Given the description of an element on the screen output the (x, y) to click on. 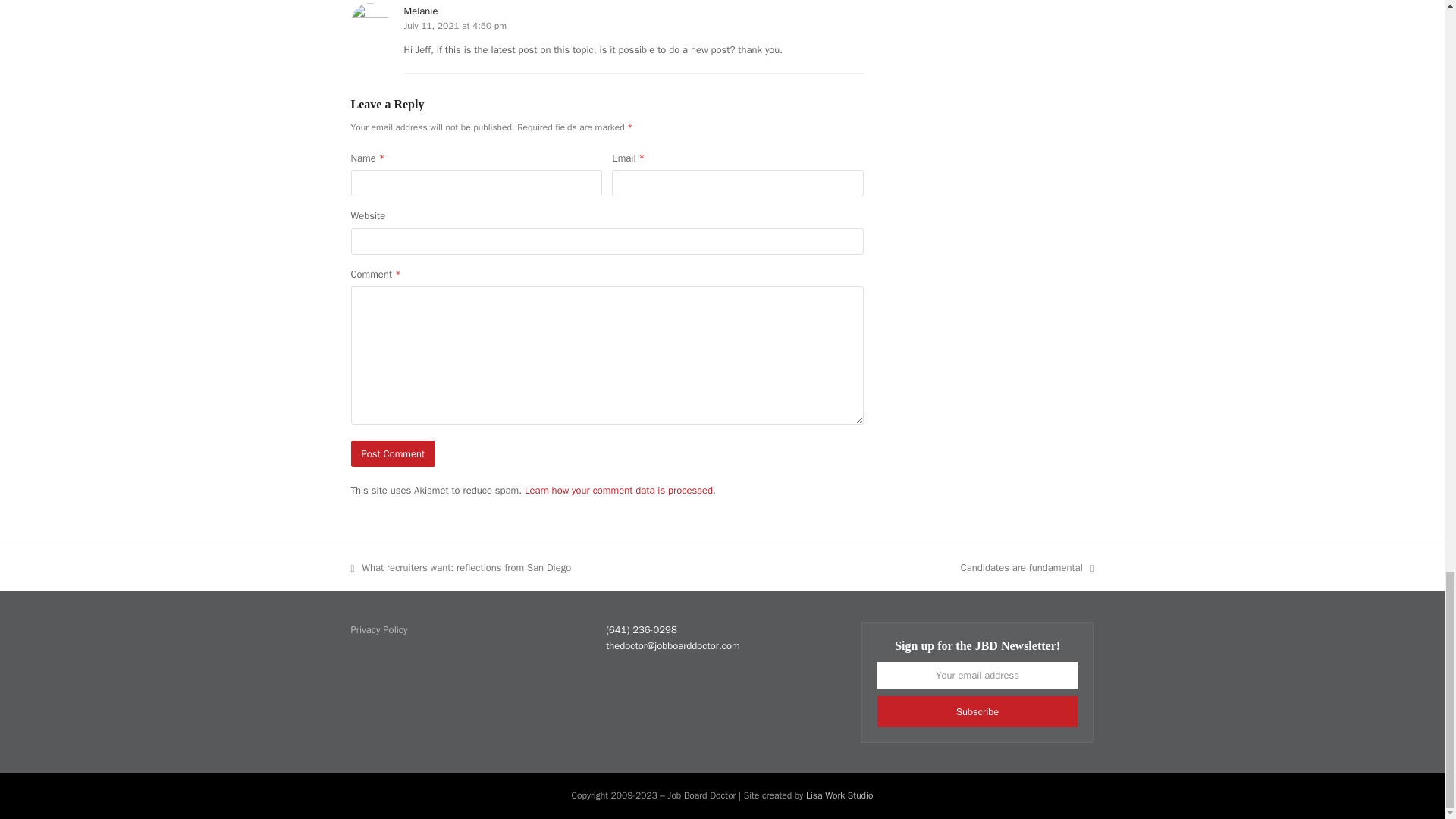
Post Comment (392, 453)
